Given the description of an element on the screen output the (x, y) to click on. 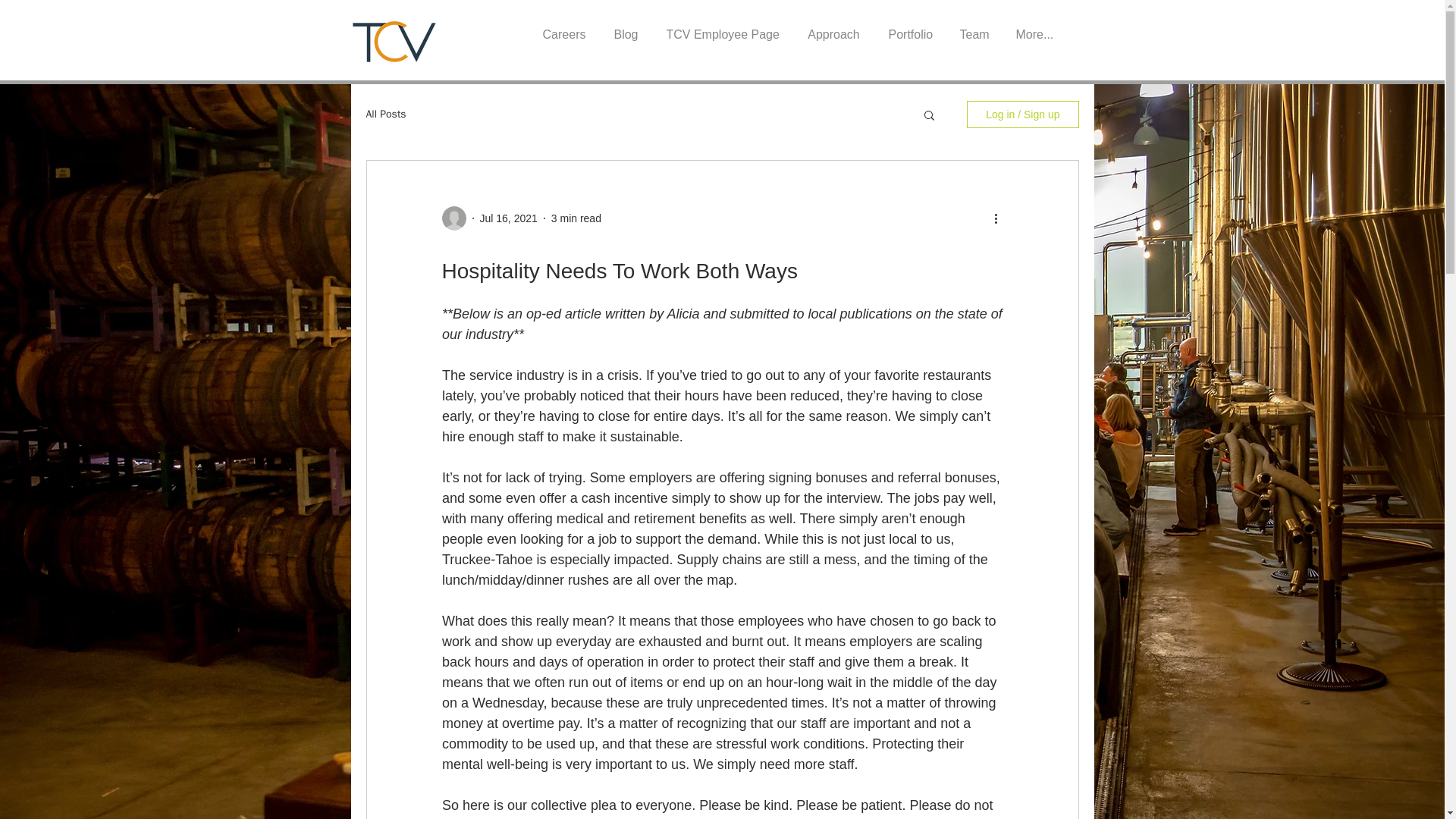
Jul 16, 2021 (508, 218)
Team (974, 27)
Approach (834, 27)
Portfolio (910, 27)
Careers (564, 27)
TCV Employee Page (722, 27)
3 min read (576, 218)
Blog (625, 27)
All Posts (385, 114)
